Given the description of an element on the screen output the (x, y) to click on. 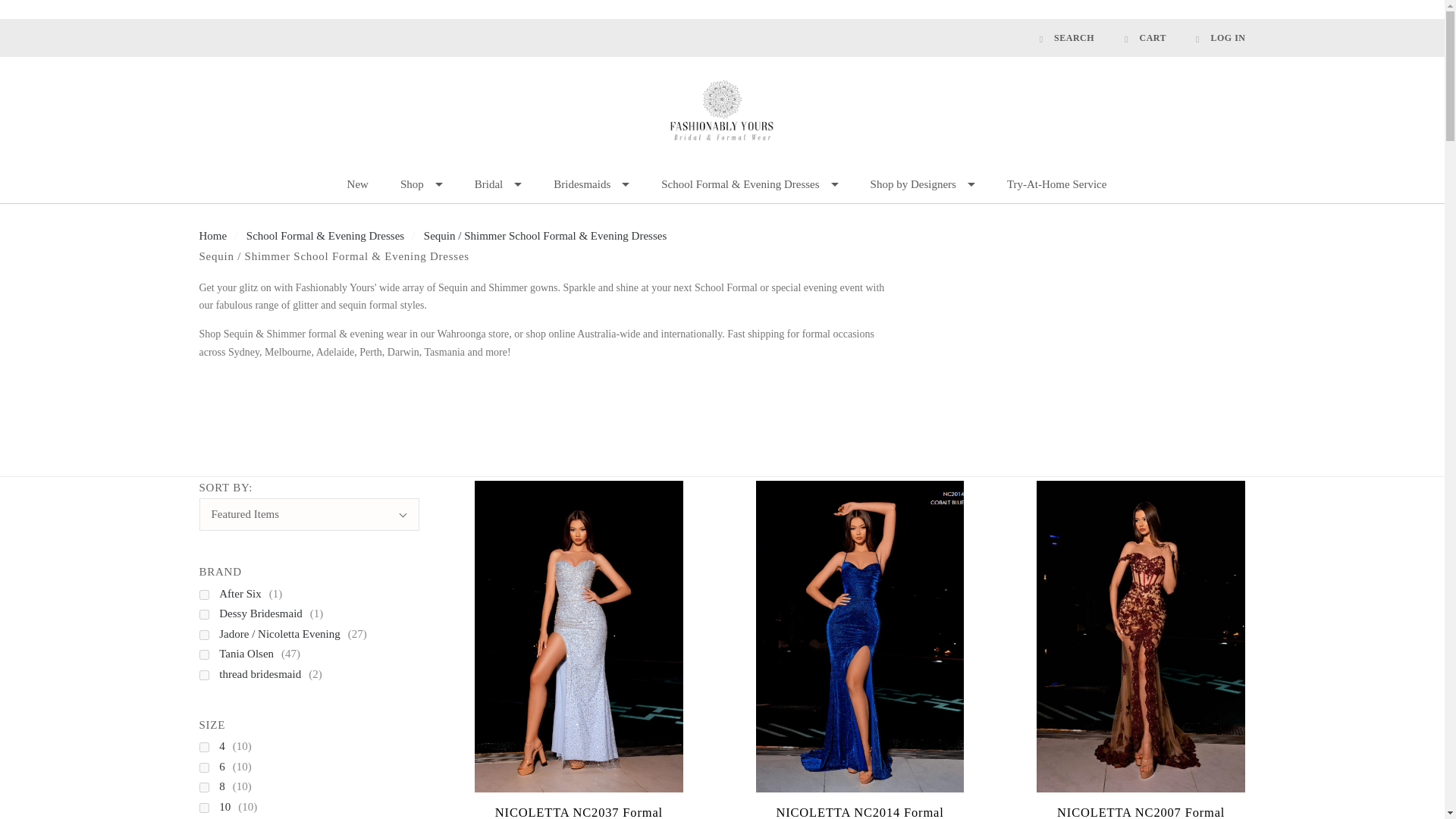
New (358, 184)
6 (230, 766)
on (203, 655)
on (203, 675)
on (203, 594)
thread bridesmaid  (268, 673)
LOG IN (1212, 37)
on (203, 634)
12 (232, 818)
Dessy Bridesmaid (268, 613)
